Given the description of an element on the screen output the (x, y) to click on. 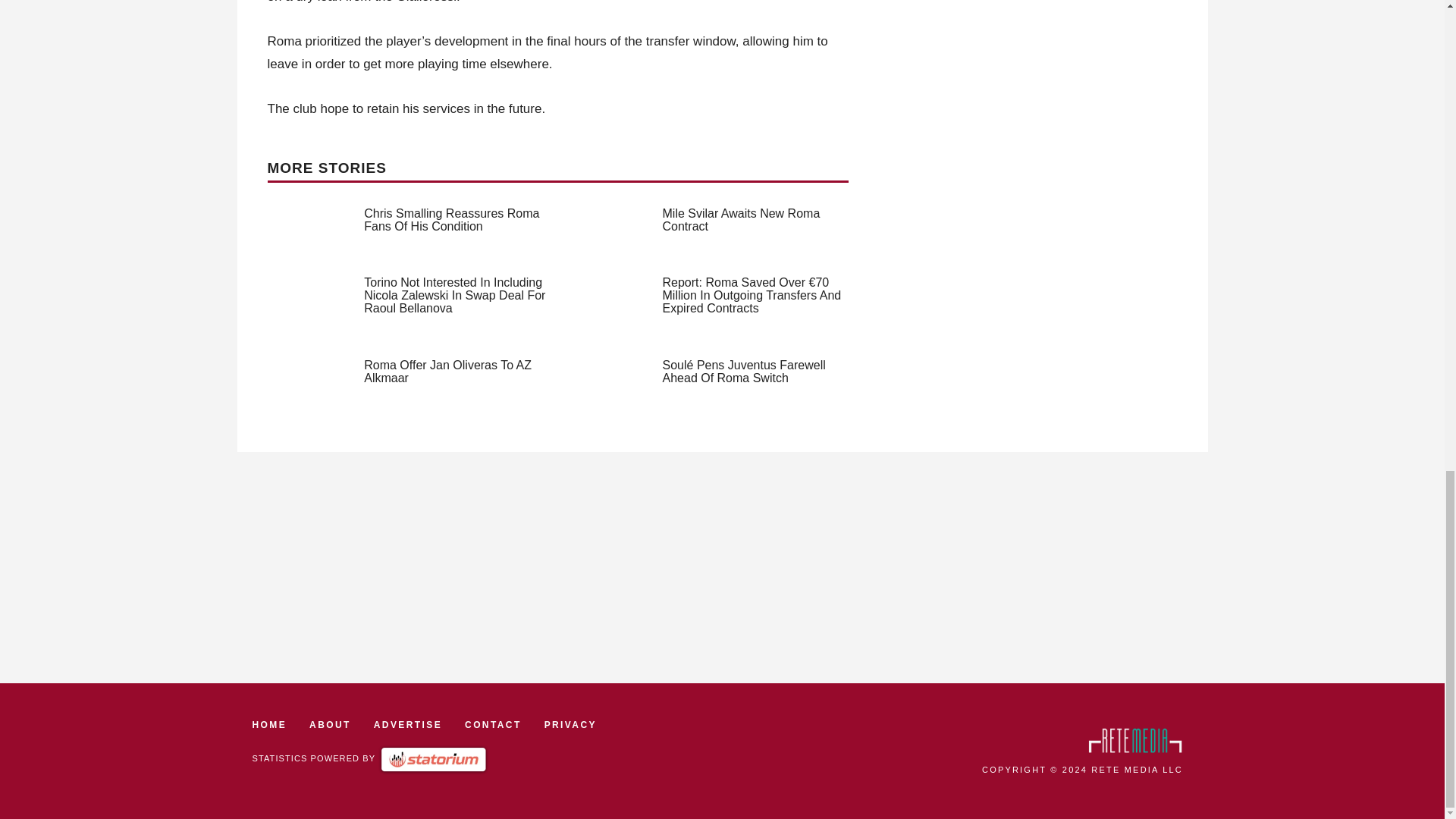
HOME (268, 725)
Roma Offer Jan Oliveras To AZ Alkmaar (447, 371)
Mile Svilar Awaits New Roma Contract (741, 219)
PRIVACY (570, 725)
CONTACT (492, 725)
Chris Smalling Reassures Roma Fans Of His Condition (451, 219)
ABOUT (329, 725)
ADVERTISE (408, 725)
